Given the description of an element on the screen output the (x, y) to click on. 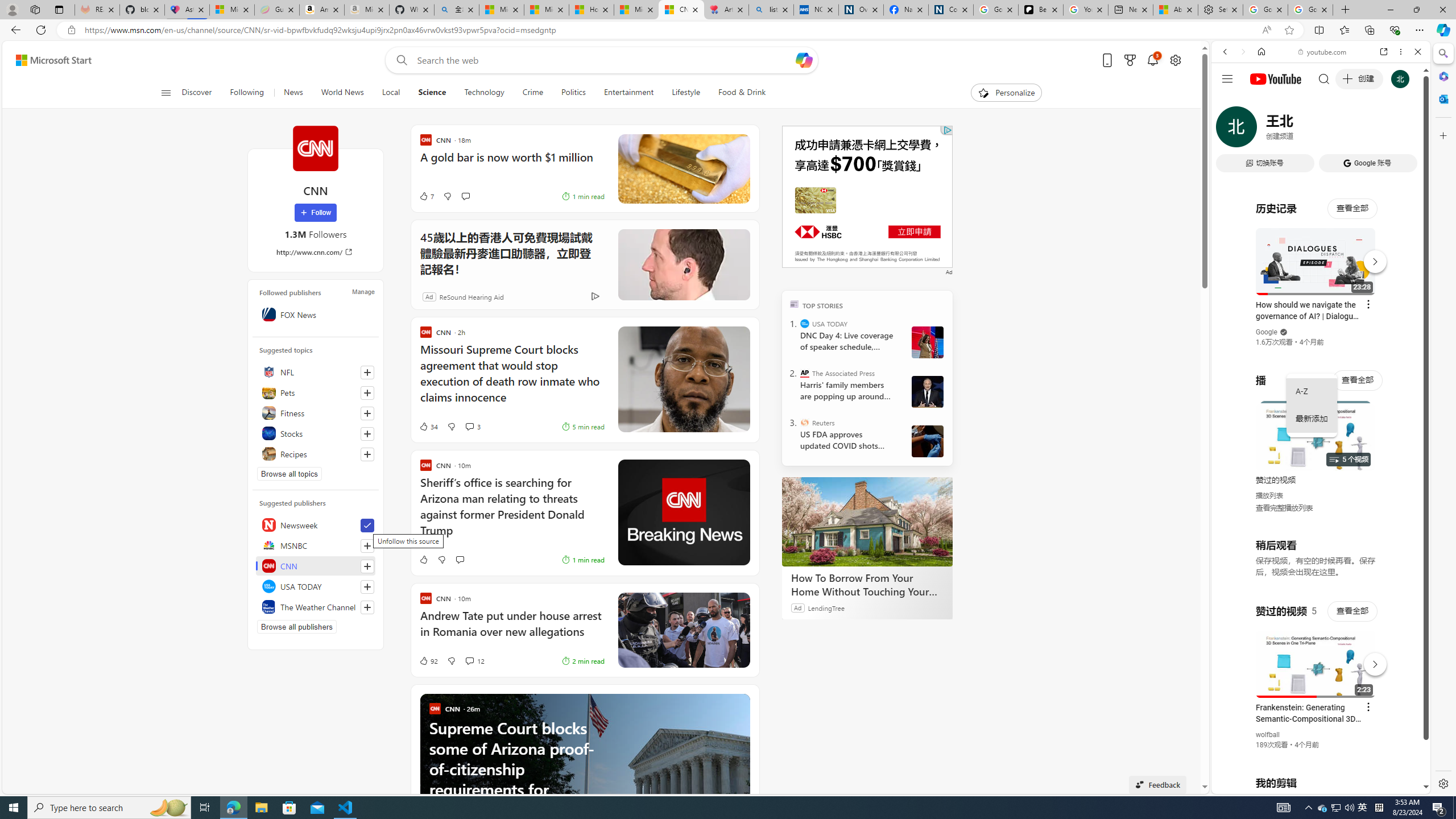
Food & Drink (737, 92)
Music (1320, 309)
Search videos from youtube.com (1299, 373)
7 Like (425, 196)
92 Like (427, 661)
Recipes (315, 453)
